Given the description of an element on the screen output the (x, y) to click on. 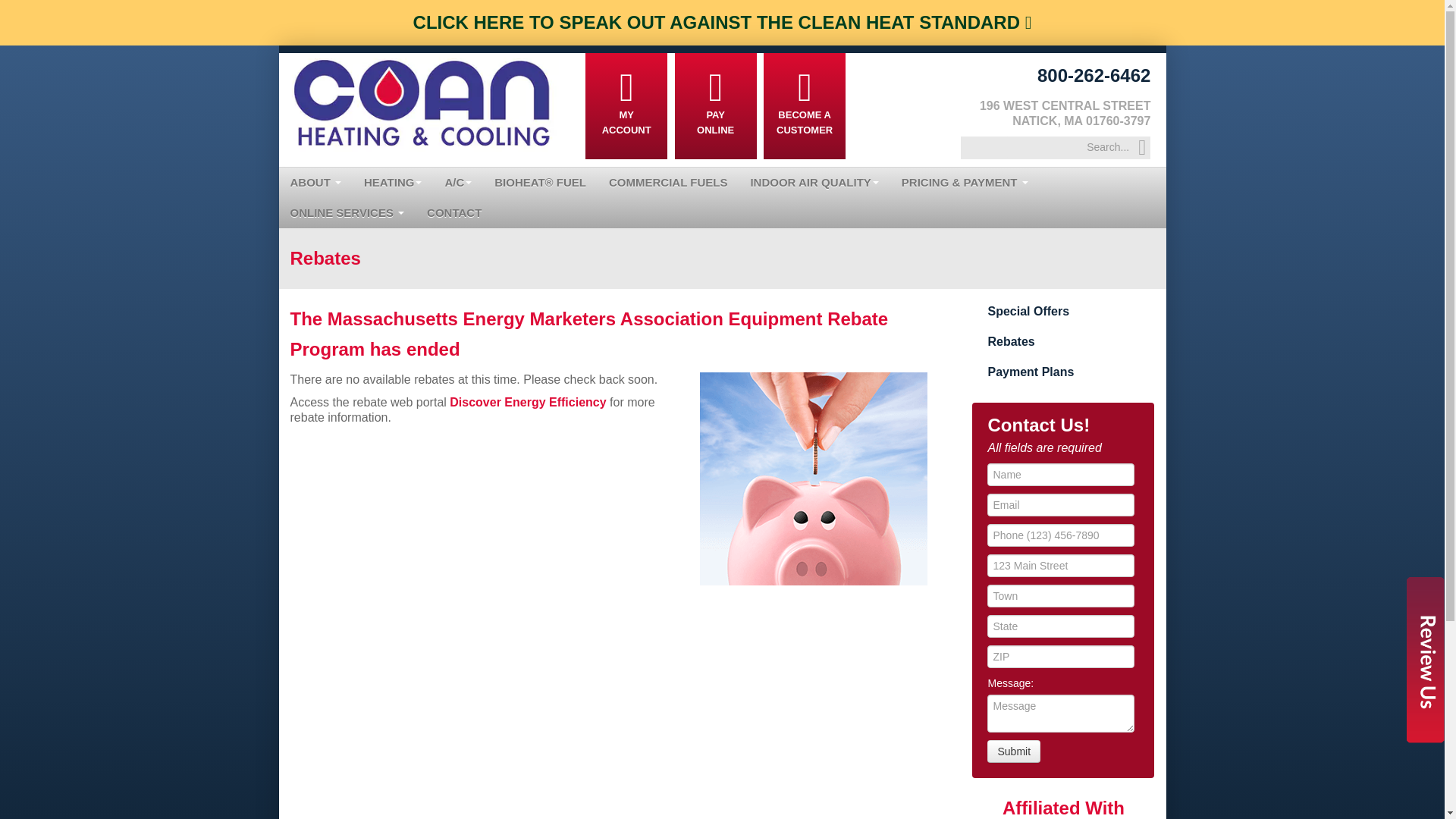
HEATING (392, 182)
ABOUT (316, 182)
Submit (1014, 751)
800-262-6462 (1093, 75)
CLICK HERE TO SPEAK OUT AGAINST THE CLEAN HEAT STANDARD (722, 22)
